Given the description of an element on the screen output the (x, y) to click on. 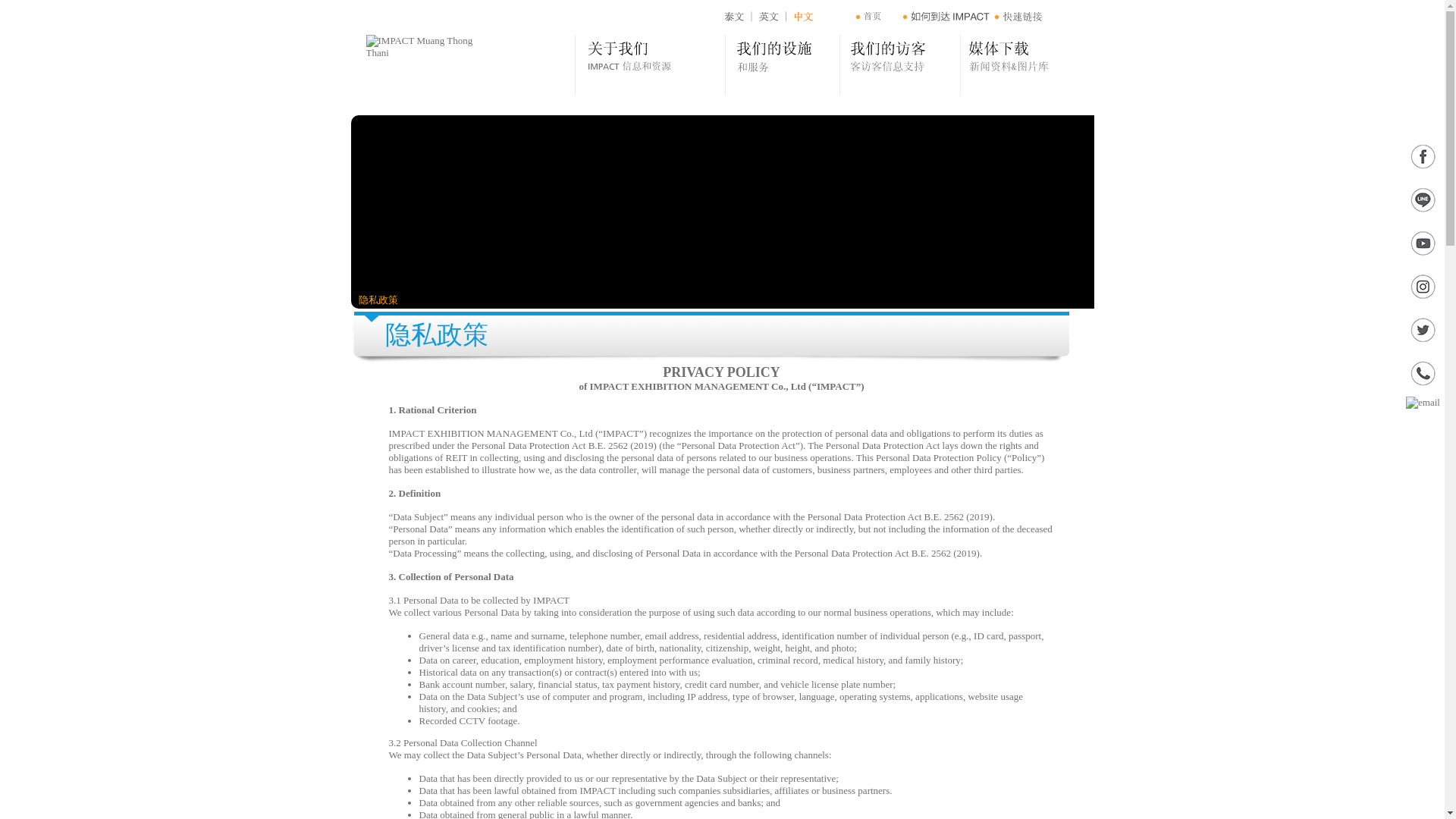
Quick Link (1050, 16)
Our Facilities and service (783, 65)
information and Resource about IMPACT (650, 65)
How to get to IMPACT (953, 16)
En (767, 16)
Cn (807, 16)
Home (874, 16)
Media Download (1023, 65)
Facilites (783, 65)
Quick Link (1050, 16)
Th (736, 16)
Who We Are (650, 65)
How to get to IMPACT (953, 16)
Home (874, 16)
Vistor (900, 65)
